Given the description of an element on the screen output the (x, y) to click on. 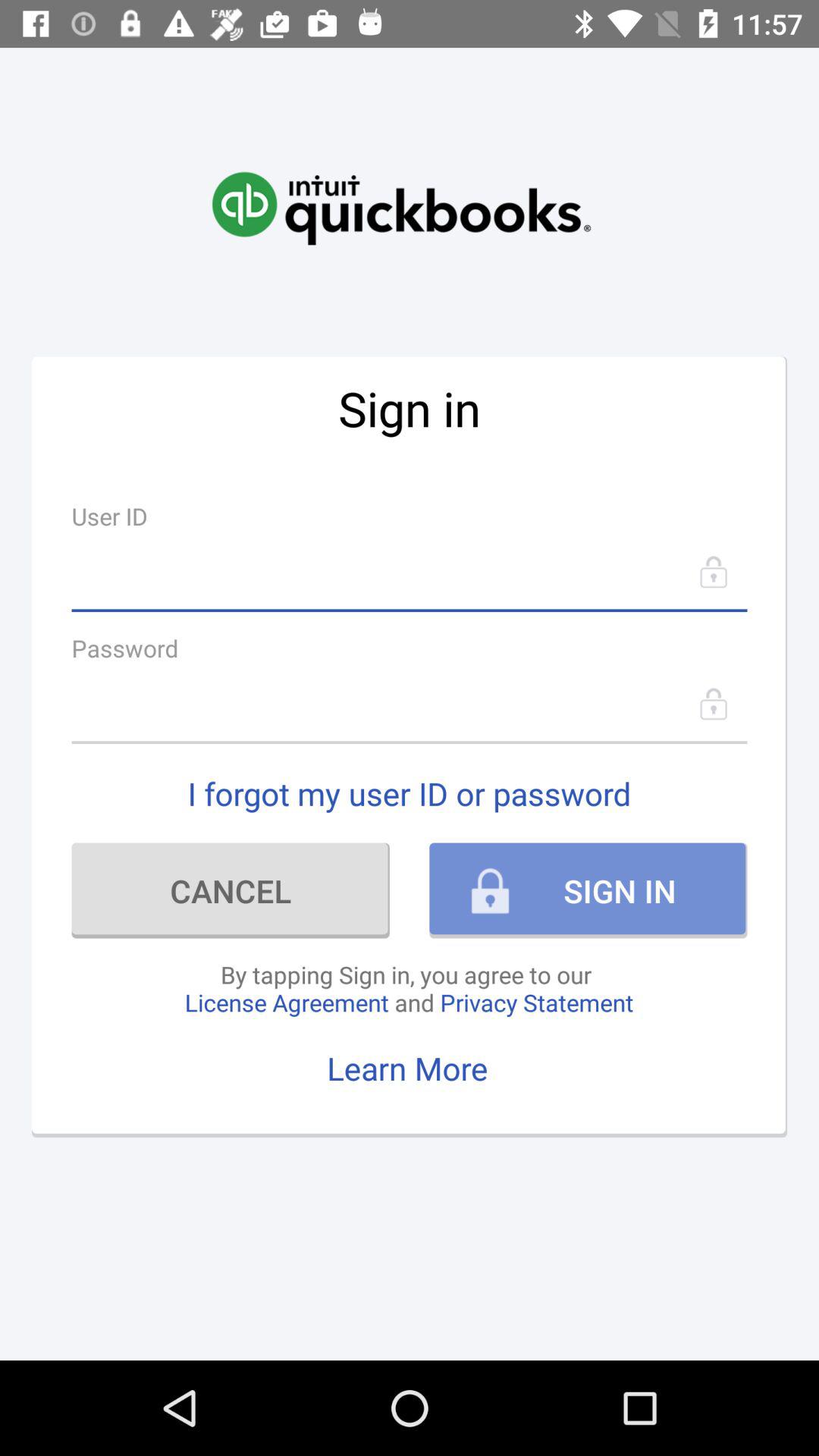
open icon below i forgot my item (230, 890)
